Given the description of an element on the screen output the (x, y) to click on. 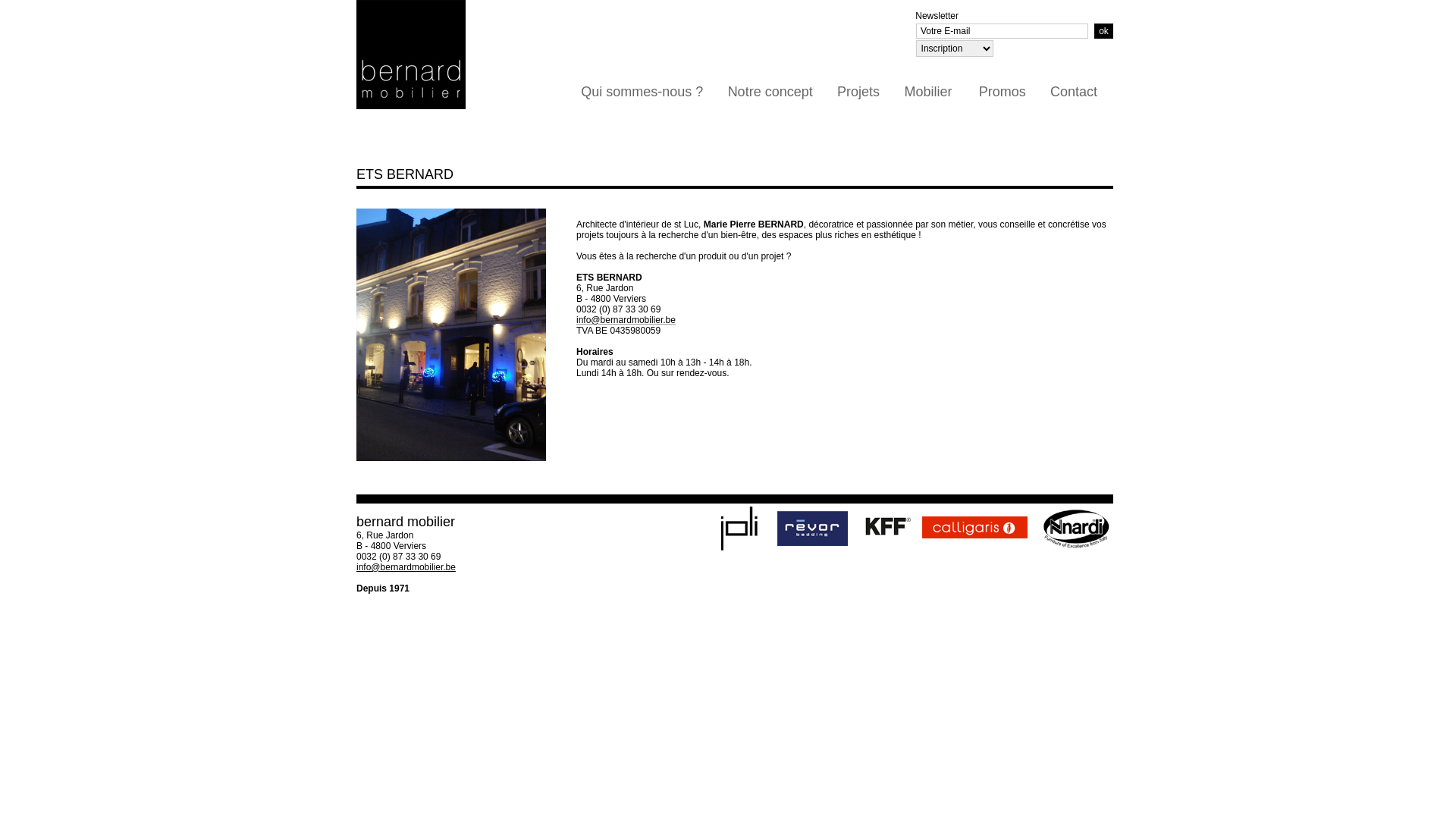
Contact Element type: text (1073, 92)
Mobilier Element type: text (928, 92)
info@bernardmobilier.be Element type: text (625, 319)
Bernard mobilier Element type: hover (451, 334)
Promos Element type: text (1001, 92)
Qui sommes-nous ? Element type: text (641, 92)
Notre concept Element type: text (769, 92)
Projets Element type: text (858, 92)
ok Element type: text (1103, 30)
info@bernardmobilier.be Element type: text (405, 566)
